Given the description of an element on the screen output the (x, y) to click on. 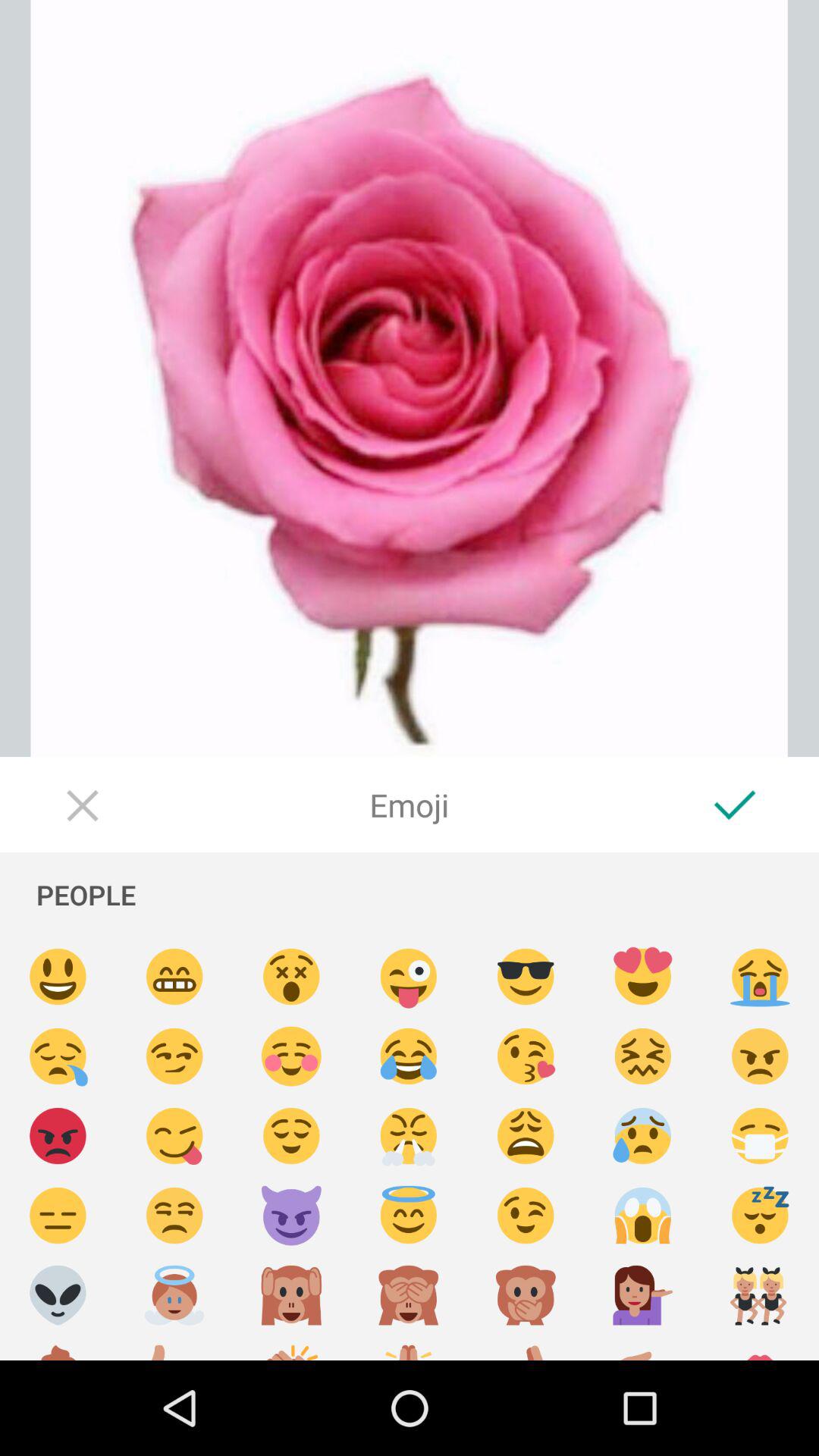
sad face emoji (642, 1136)
